Given the description of an element on the screen output the (x, y) to click on. 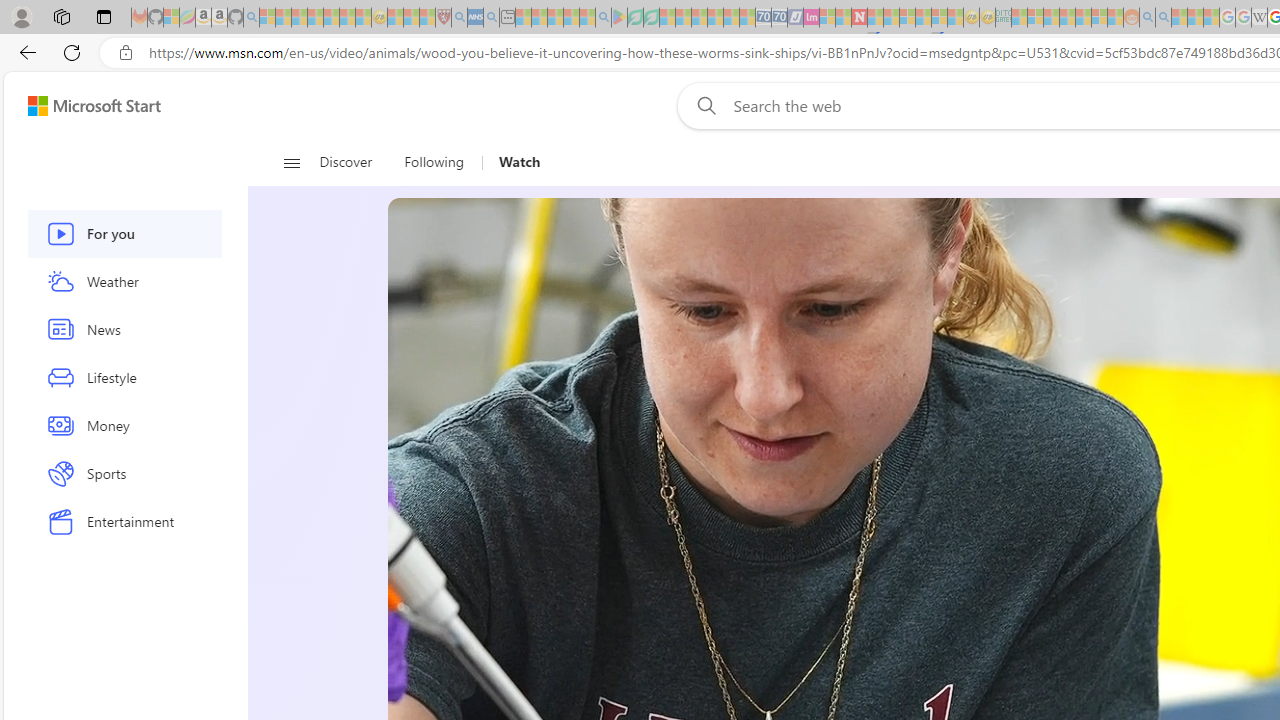
Target page - Wikipedia - Sleeping (1259, 17)
